Given the description of an element on the screen output the (x, y) to click on. 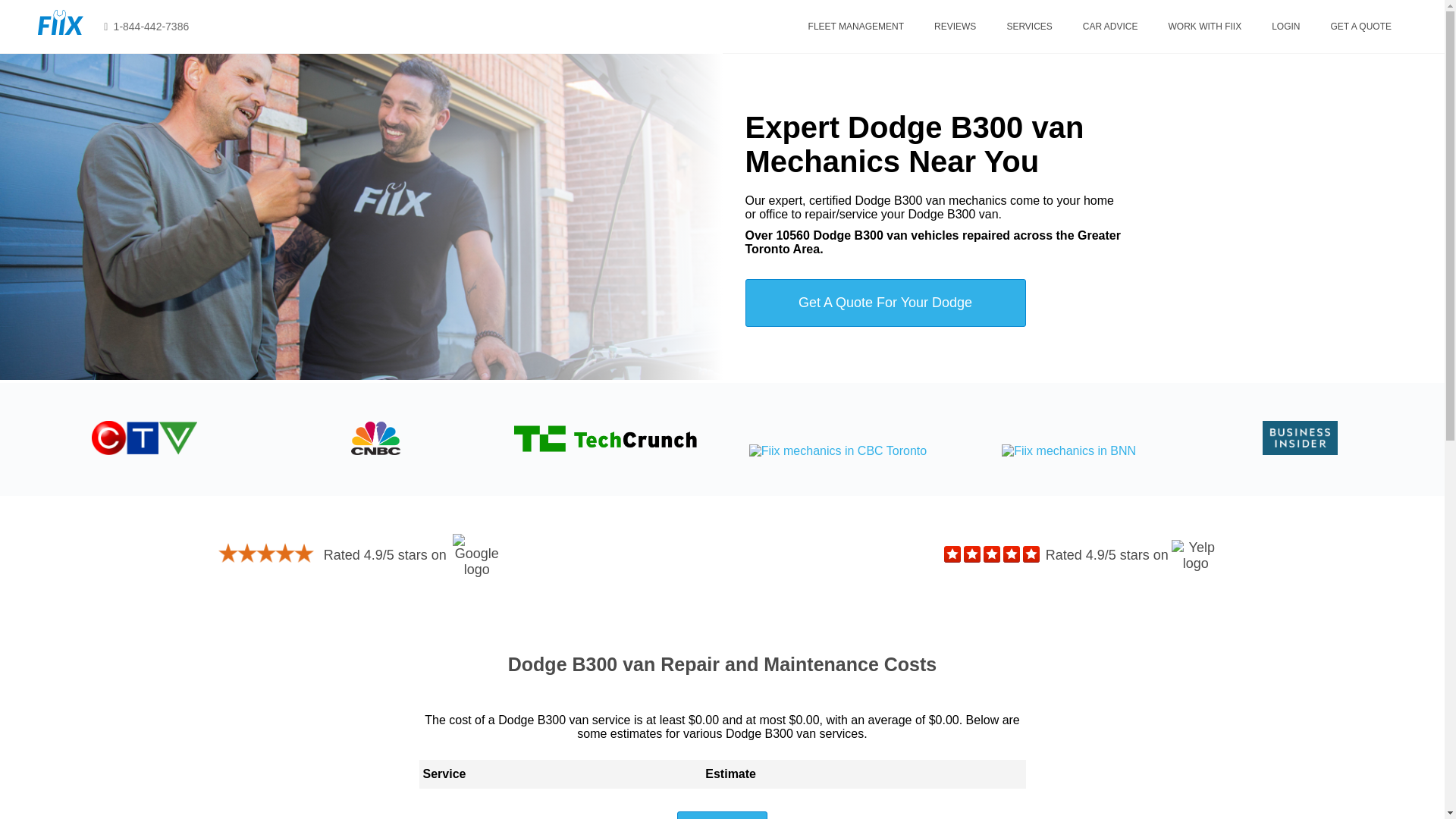
SERVICES (1028, 26)
GET A QUOTE (1360, 26)
1-844-442-7386 (144, 26)
Get A Quote For Your Dodge (884, 302)
REVIEWS (954, 26)
CAR ADVICE (1110, 26)
WORK WITH FIIX (1205, 26)
Get A Quote (722, 815)
FLEET MANAGEMENT (856, 26)
